Given the description of an element on the screen output the (x, y) to click on. 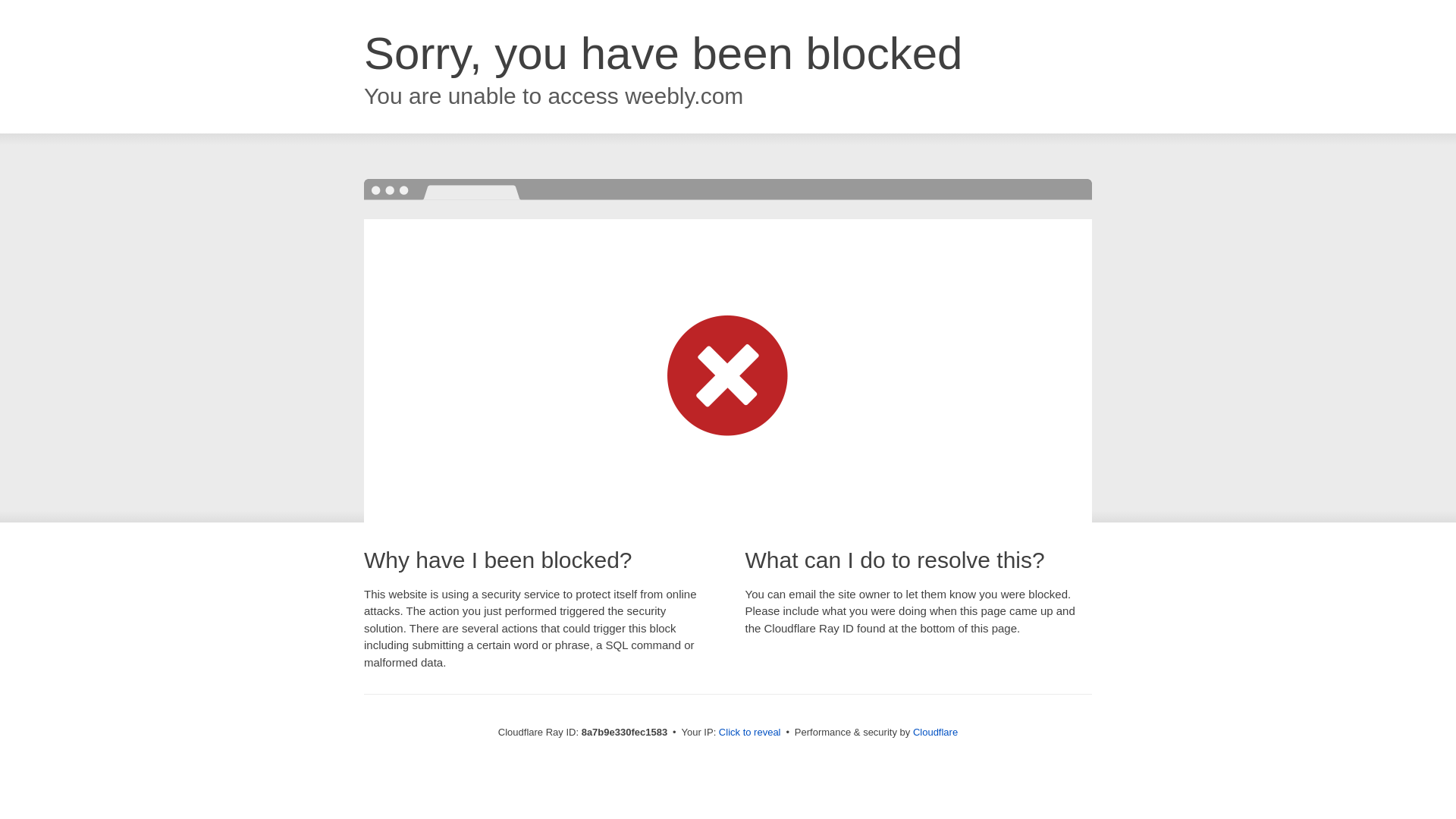
Cloudflare (935, 731)
Click to reveal (749, 732)
